Given the description of an element on the screen output the (x, y) to click on. 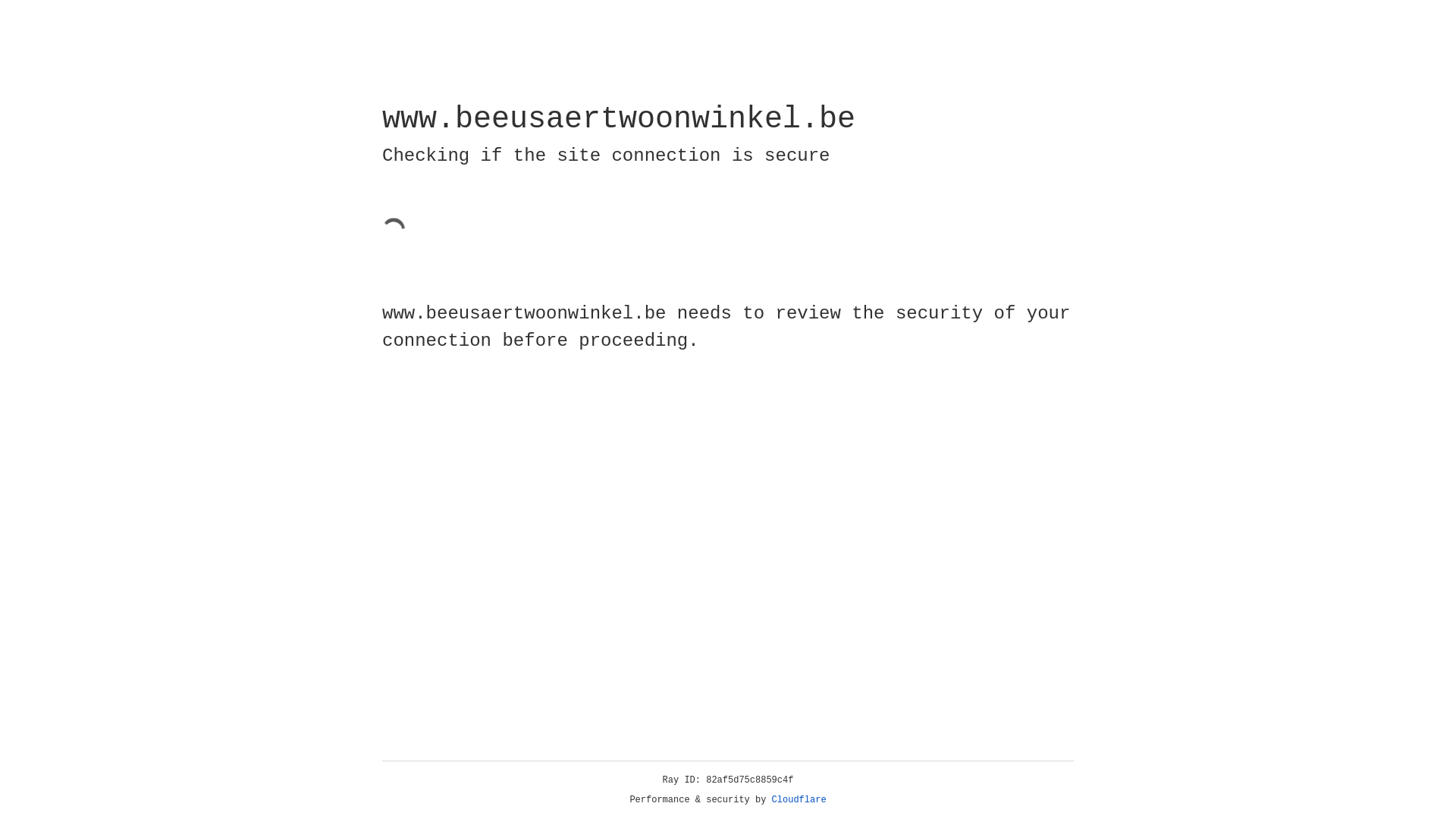
Cloudflare Element type: text (798, 799)
